Given the description of an element on the screen output the (x, y) to click on. 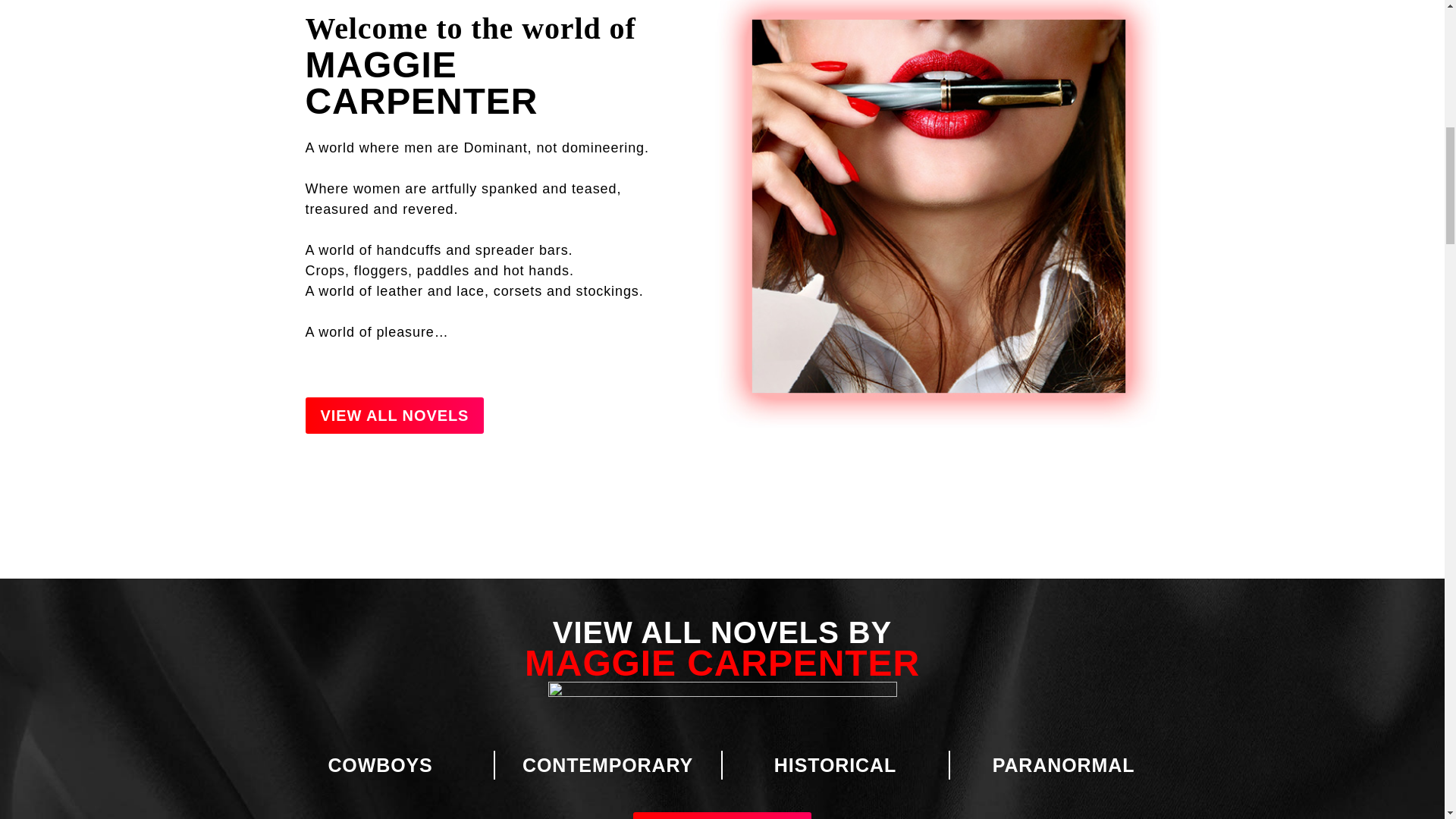
CONTEMPORARY (607, 764)
VIEW ALL NOVELS (722, 815)
VIEW ALL NOVELS (393, 415)
COWBOYS (379, 764)
HISTORICAL (835, 764)
PARANORMAL (1063, 764)
